Given the description of an element on the screen output the (x, y) to click on. 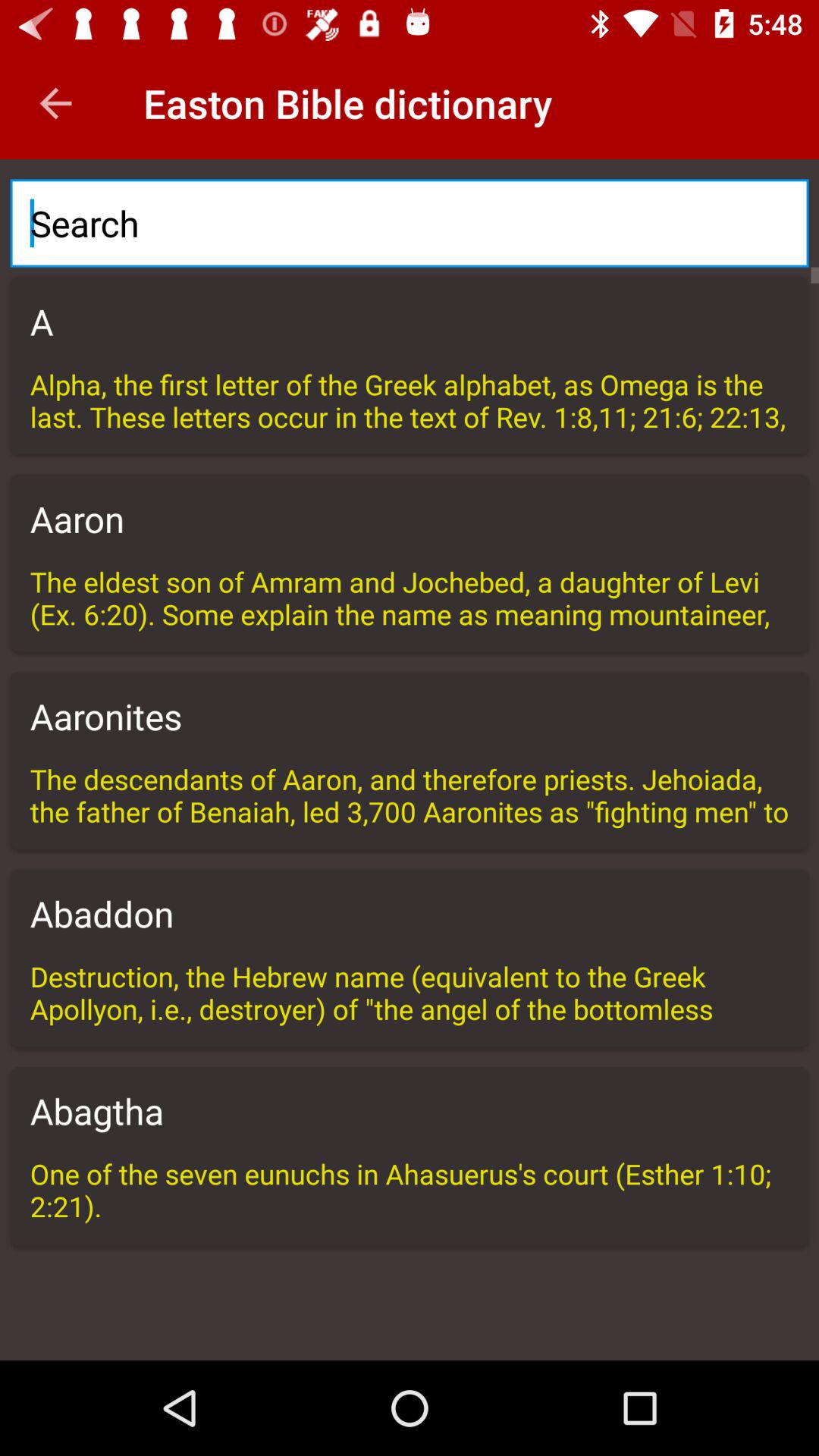
go back (55, 103)
